Given the description of an element on the screen output the (x, y) to click on. 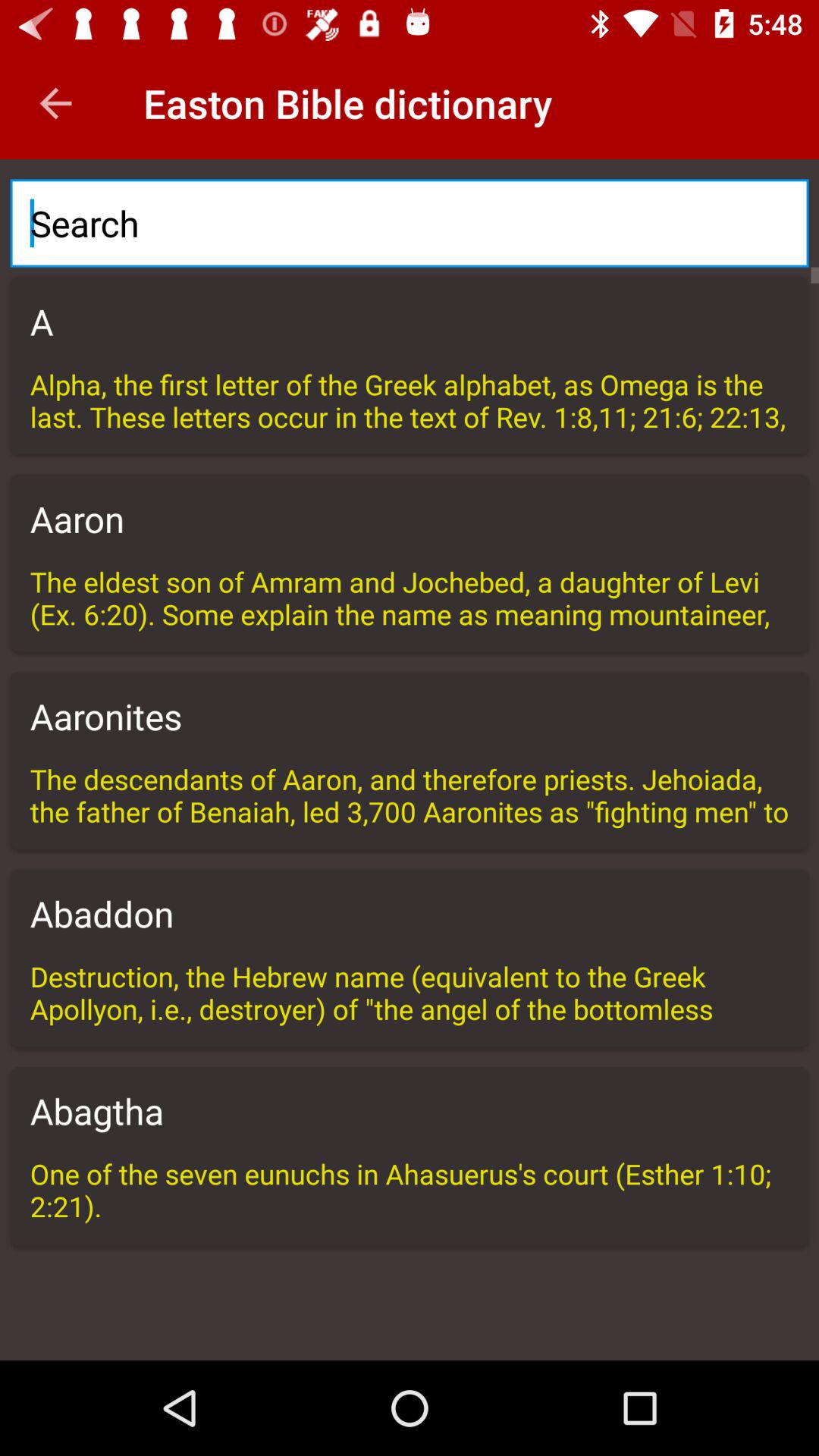
go back (55, 103)
